Given the description of an element on the screen output the (x, y) to click on. 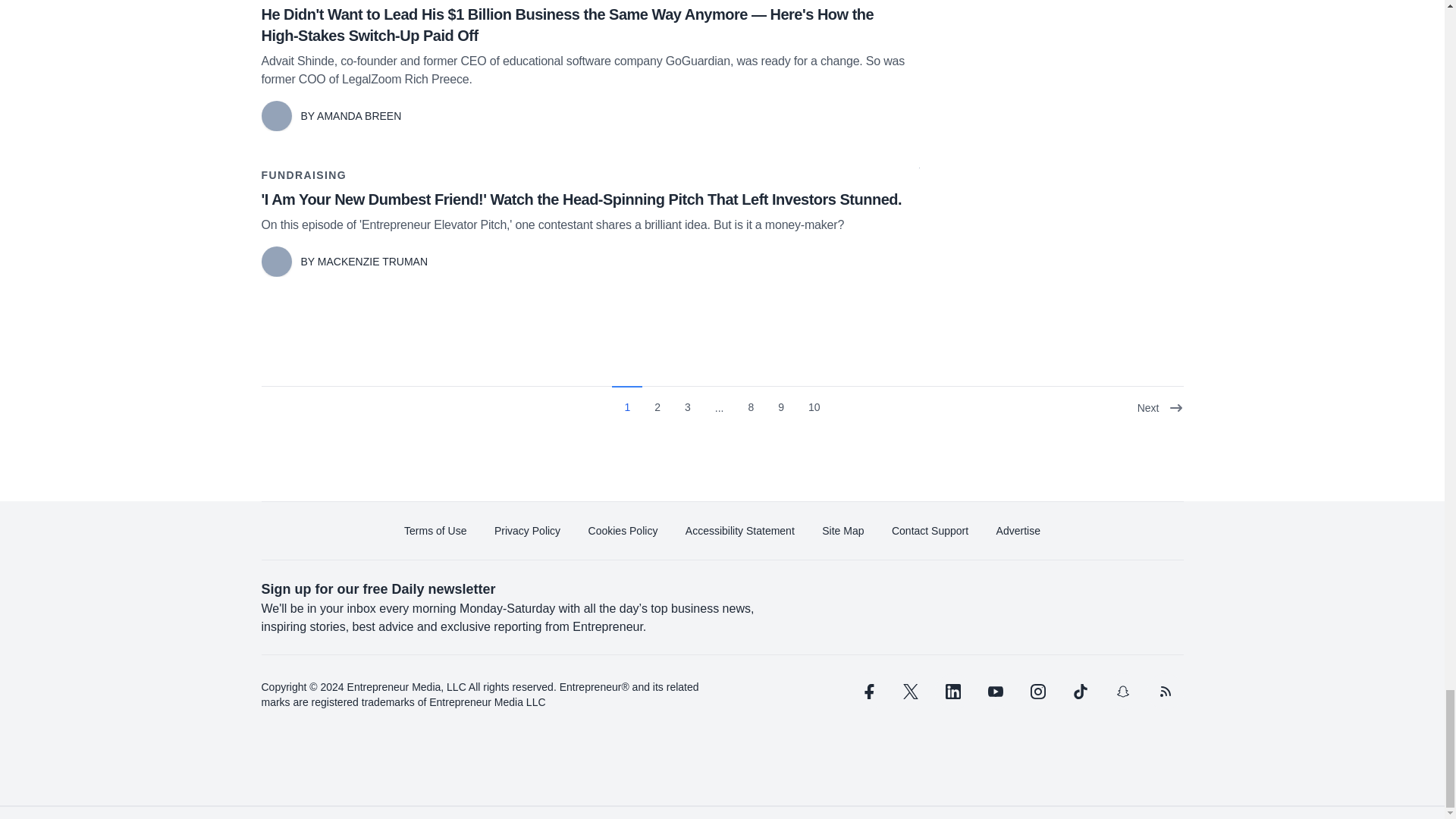
linkedin (952, 690)
facebook (866, 690)
snapchat (1121, 690)
tiktok (1079, 690)
twitter (909, 690)
youtube (994, 690)
rss (1164, 690)
instagram (1037, 690)
